Given the description of an element on the screen output the (x, y) to click on. 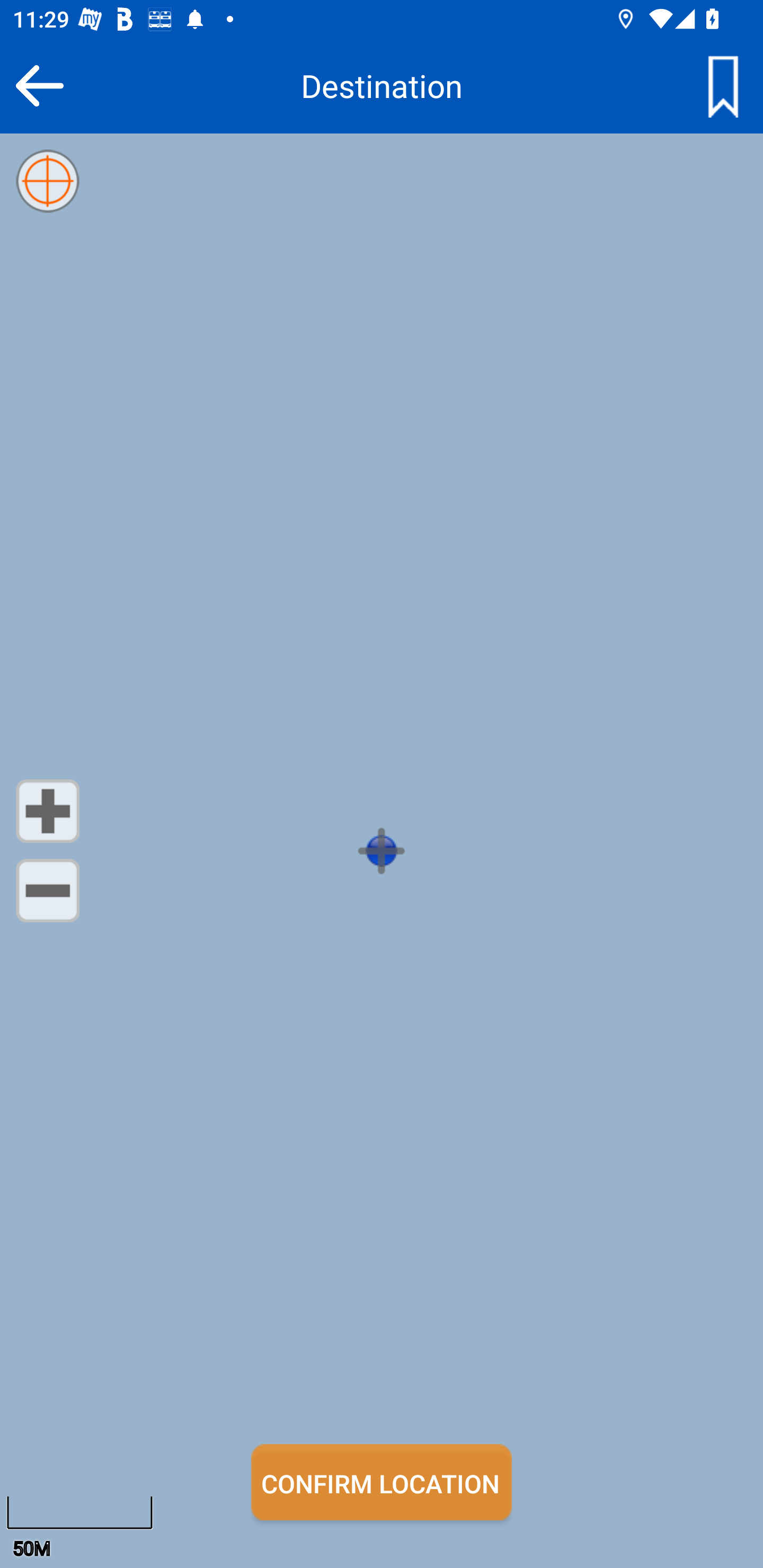
Add bookmark (723, 85)
Back (39, 85)
CONFIRM LOCATION (381, 1482)
